Given the description of an element on the screen output the (x, y) to click on. 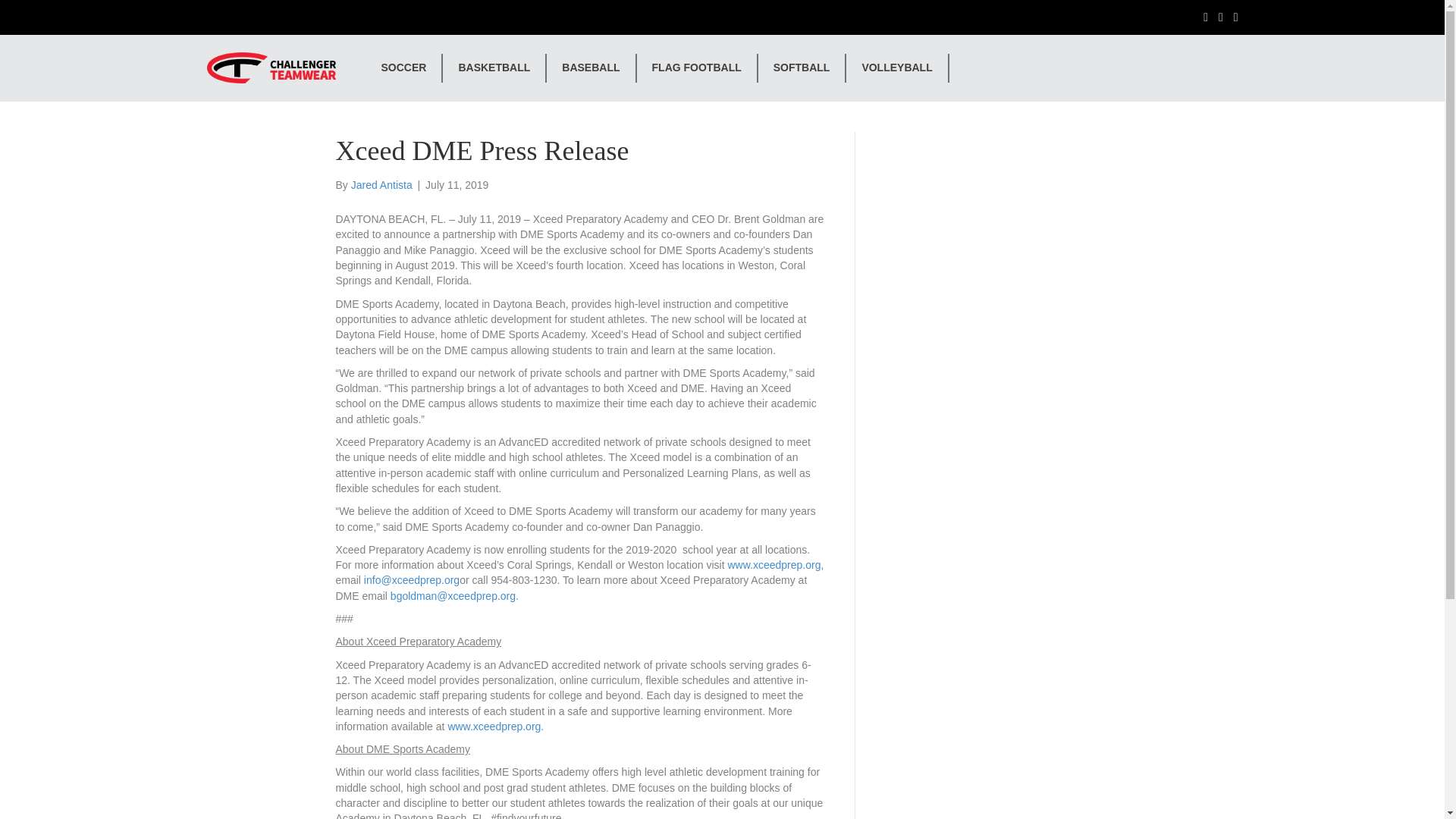
Jared Antista (381, 184)
Challenger Teamwear Logo (270, 67)
SOFTBALL (802, 68)
www.xceedprep.org (493, 726)
VOLLEYBALL (897, 68)
BASKETBALL (494, 68)
www.xceedprep.org (773, 564)
BASEBALL (591, 68)
SOCCER (403, 68)
FLAG FOOTBALL (697, 68)
